Given the description of an element on the screen output the (x, y) to click on. 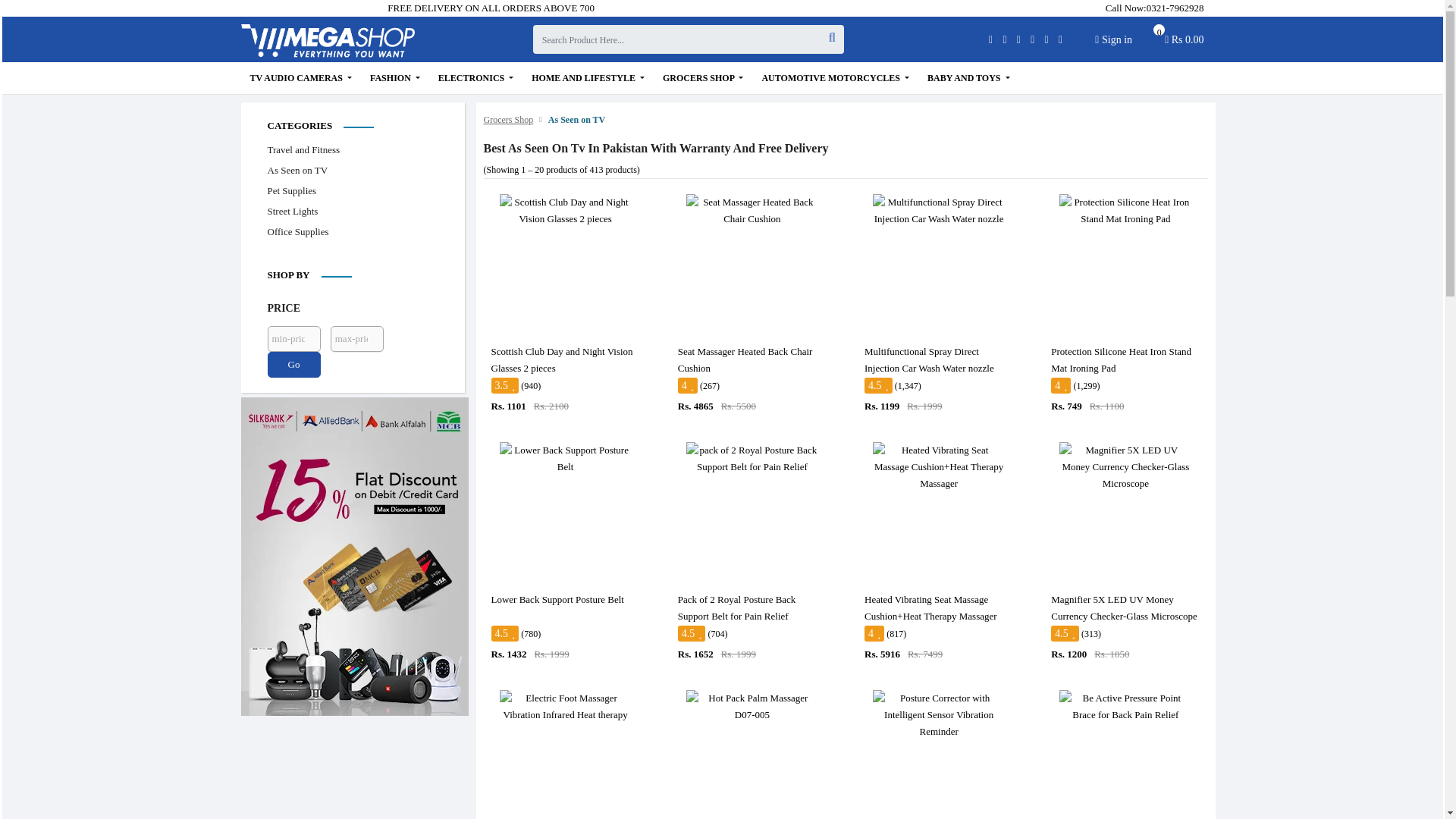
TV AUDIO CAMERAS (301, 78)
Go (293, 364)
Posture Corrector with Intelligent Sensor Vibration Reminder (938, 715)
FASHION (395, 78)
Multifunctional Spray Direct Injection Car Wash Water nozzle (938, 210)
Be Active Pressure Point Brace for Back Pain Relief (1125, 706)
Sign in (1113, 39)
Seat Massager Heated Back Chair Cushion  (751, 210)
Protection Silicone Heat Iron Stand Mat Ironing Pad (1184, 42)
